Given the description of an element on the screen output the (x, y) to click on. 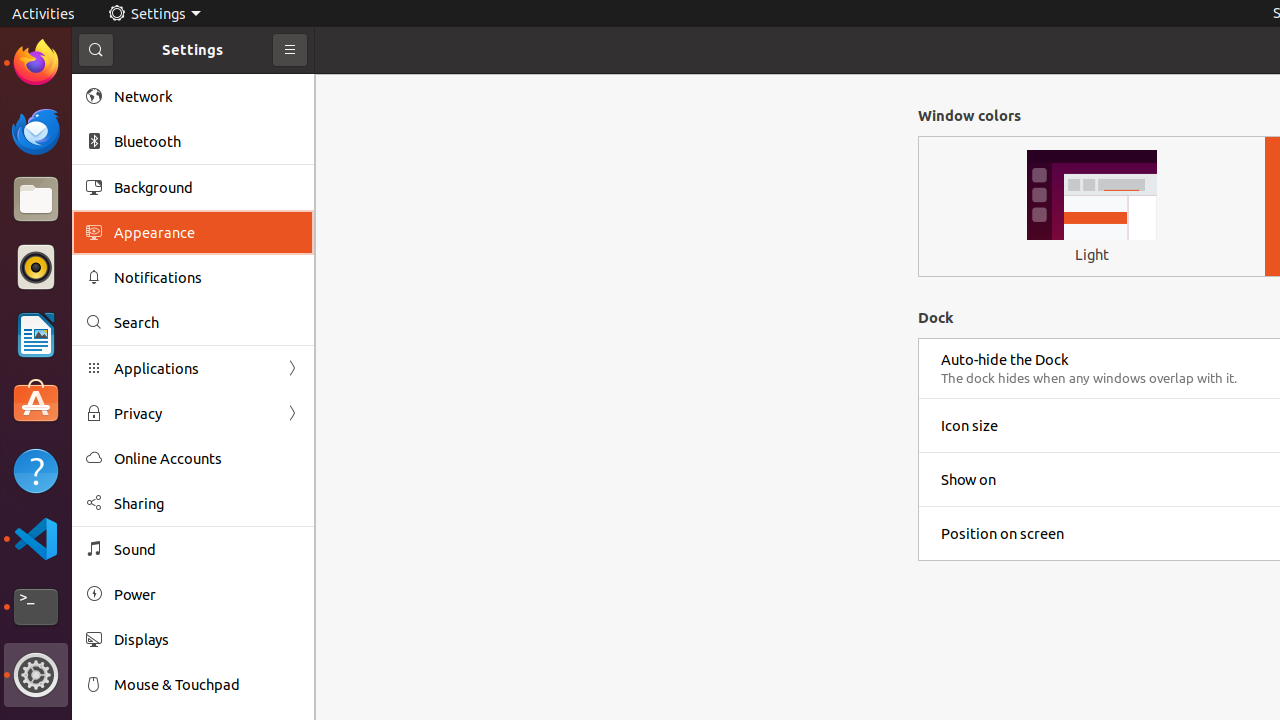
Notifications Element type: label (207, 277)
Sound Element type: label (207, 549)
